Given the description of an element on the screen output the (x, y) to click on. 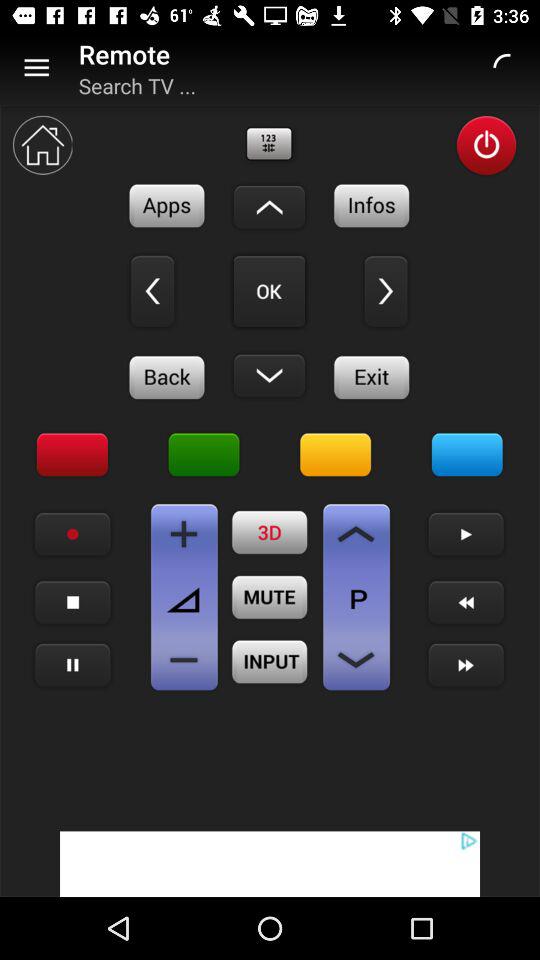
details (371, 205)
